Given the description of an element on the screen output the (x, y) to click on. 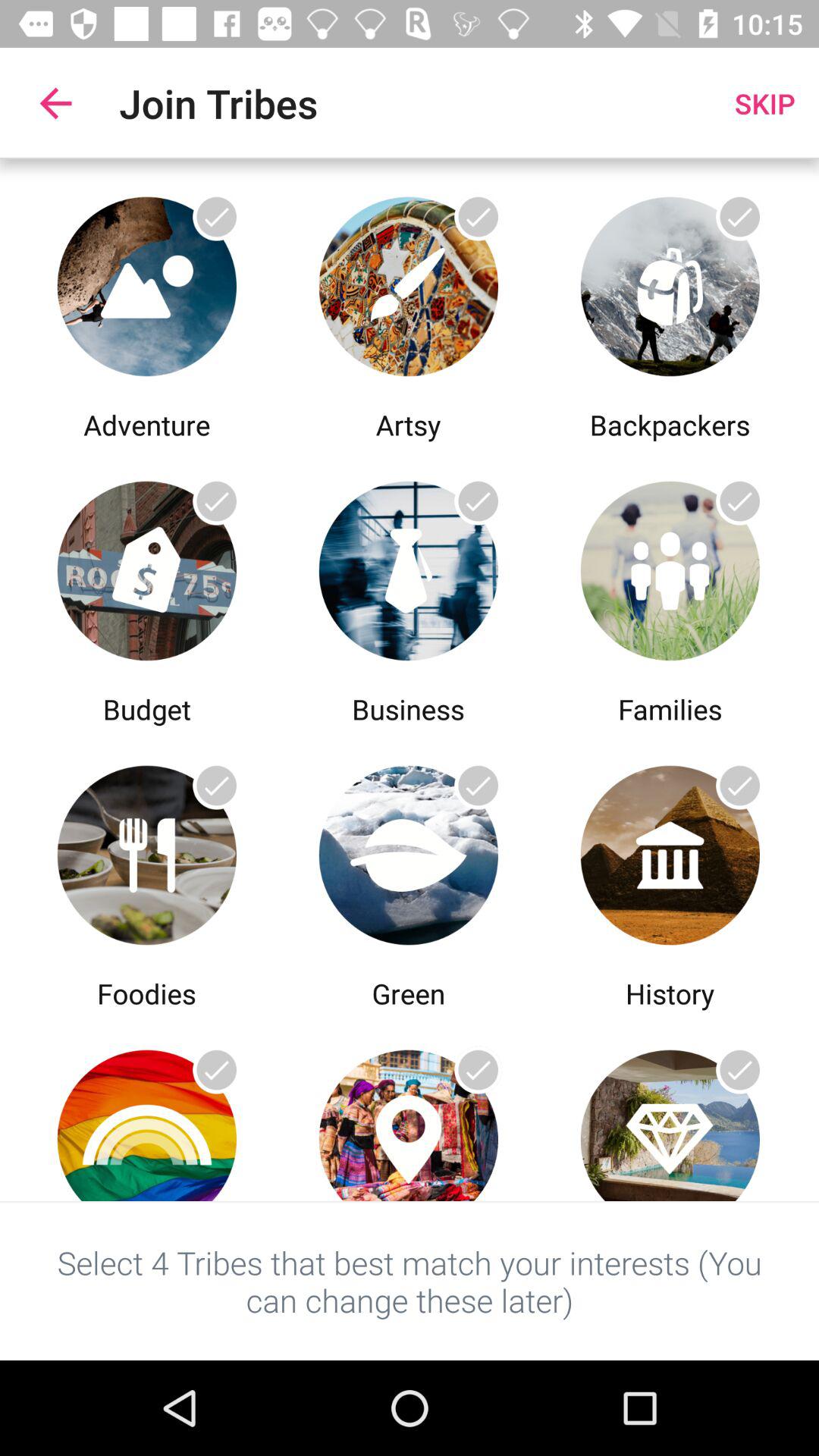
join budget tribe (146, 566)
